Given the description of an element on the screen output the (x, y) to click on. 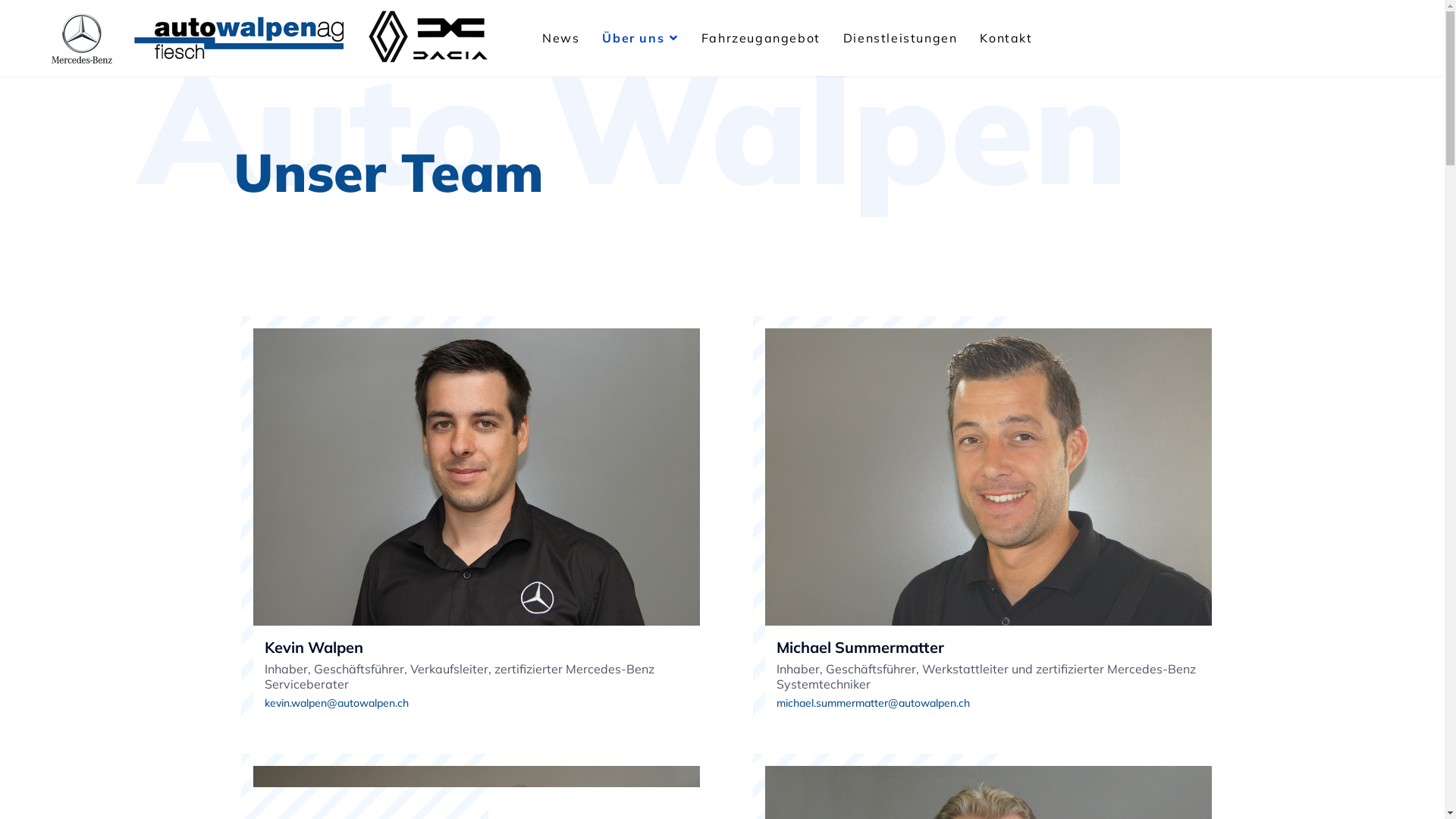
kevin.walpen@autowalpen.ch Element type: text (481, 703)
michael.summermatter@autowalpen.ch Element type: text (993, 703)
Fahrzeugangebot Element type: text (760, 37)
Dienstleistungen Element type: text (900, 37)
News Element type: text (560, 37)
Kontakt Element type: text (1005, 37)
